Given the description of an element on the screen output the (x, y) to click on. 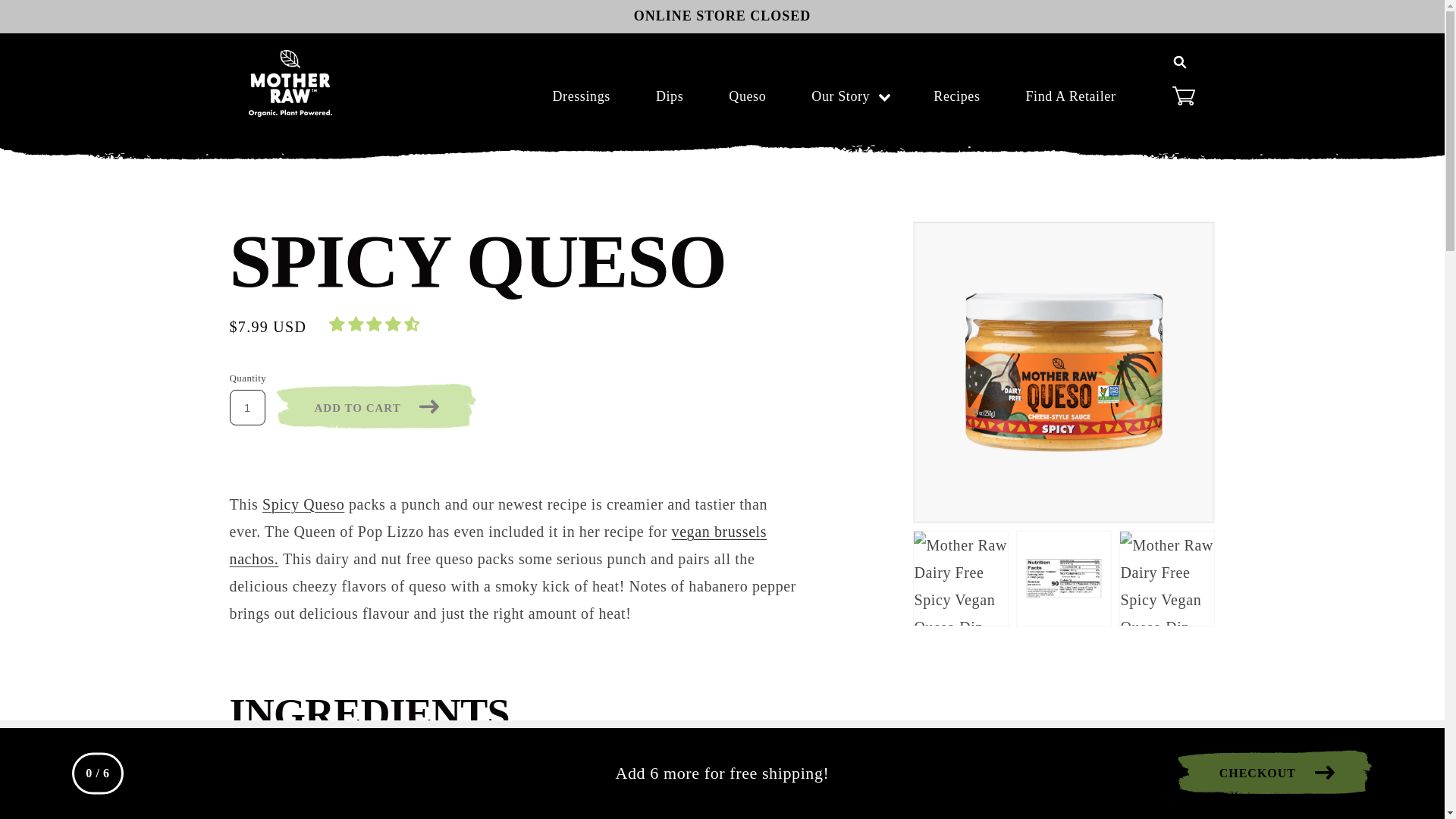
SKIP TO PRODUCT INFORMATION (1003, 241)
vegan brussels nachos. (498, 545)
Our Story (830, 96)
Recipes (957, 96)
Dips (669, 96)
Dressings (580, 96)
Find A Retailer (1070, 96)
ADD TO CART (376, 408)
Open media 1 in gallery view (1064, 371)
SKIP TO CONTENT (90, 20)
Cart (1183, 95)
Spicy Queso (302, 504)
1 (247, 407)
Queso (747, 96)
